Given the description of an element on the screen output the (x, y) to click on. 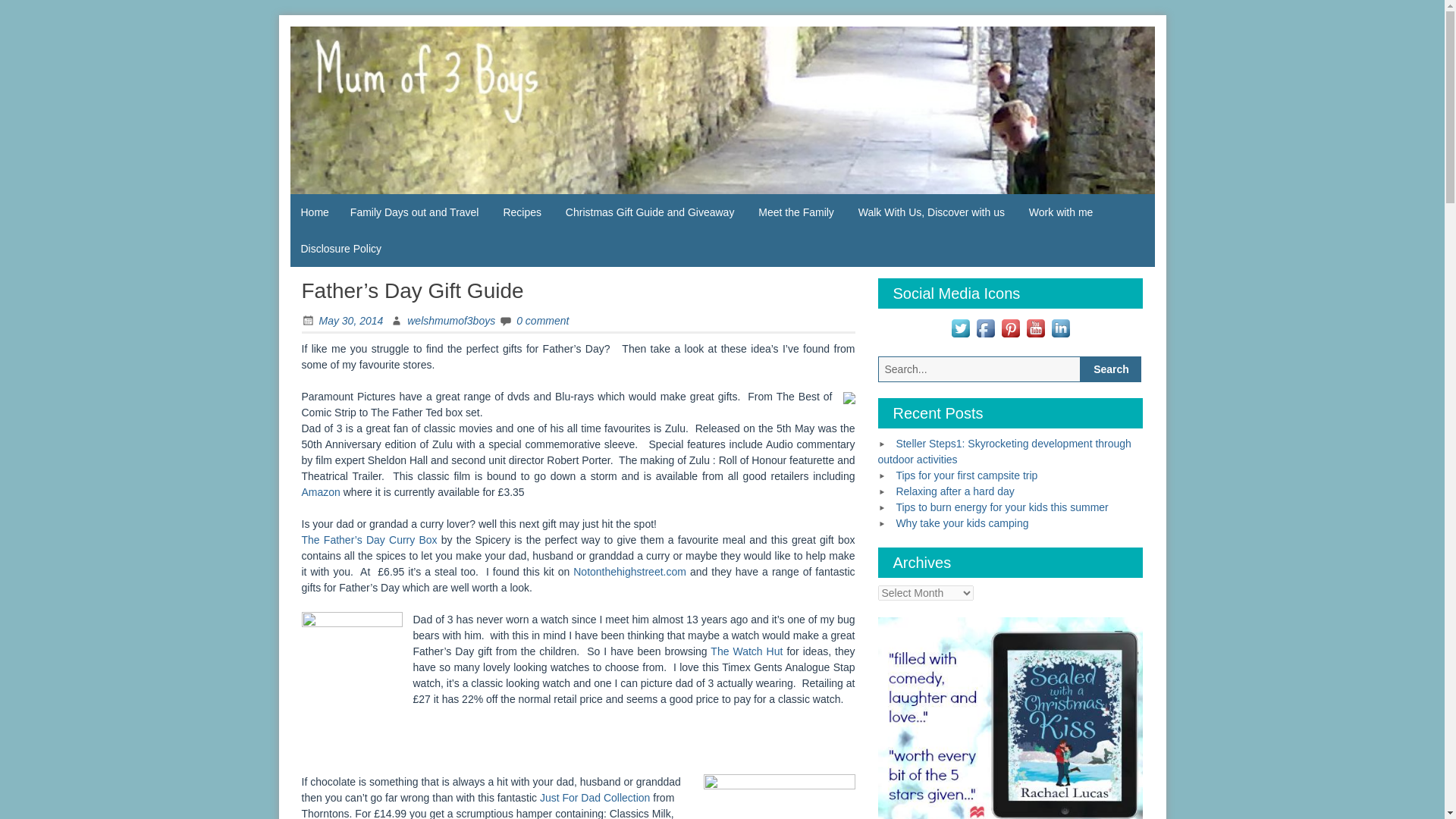
Search (1110, 369)
Visit Us On Pinterest (1010, 326)
Visit Us On Linkedin (1060, 326)
0 comment (534, 320)
Walk With Us, Discover with us (930, 212)
Disclosure Policy (340, 248)
Visit Us On Twitter (959, 326)
Home (314, 212)
Family Days out and Travel (414, 212)
Visit Us On Youtube (1035, 326)
Amazon (320, 491)
Work with me (1060, 212)
May 30, 2014 (342, 320)
Christmas Gift Guide and Giveaway (649, 212)
Visit Us On Facebook (984, 326)
